Given the description of an element on the screen output the (x, y) to click on. 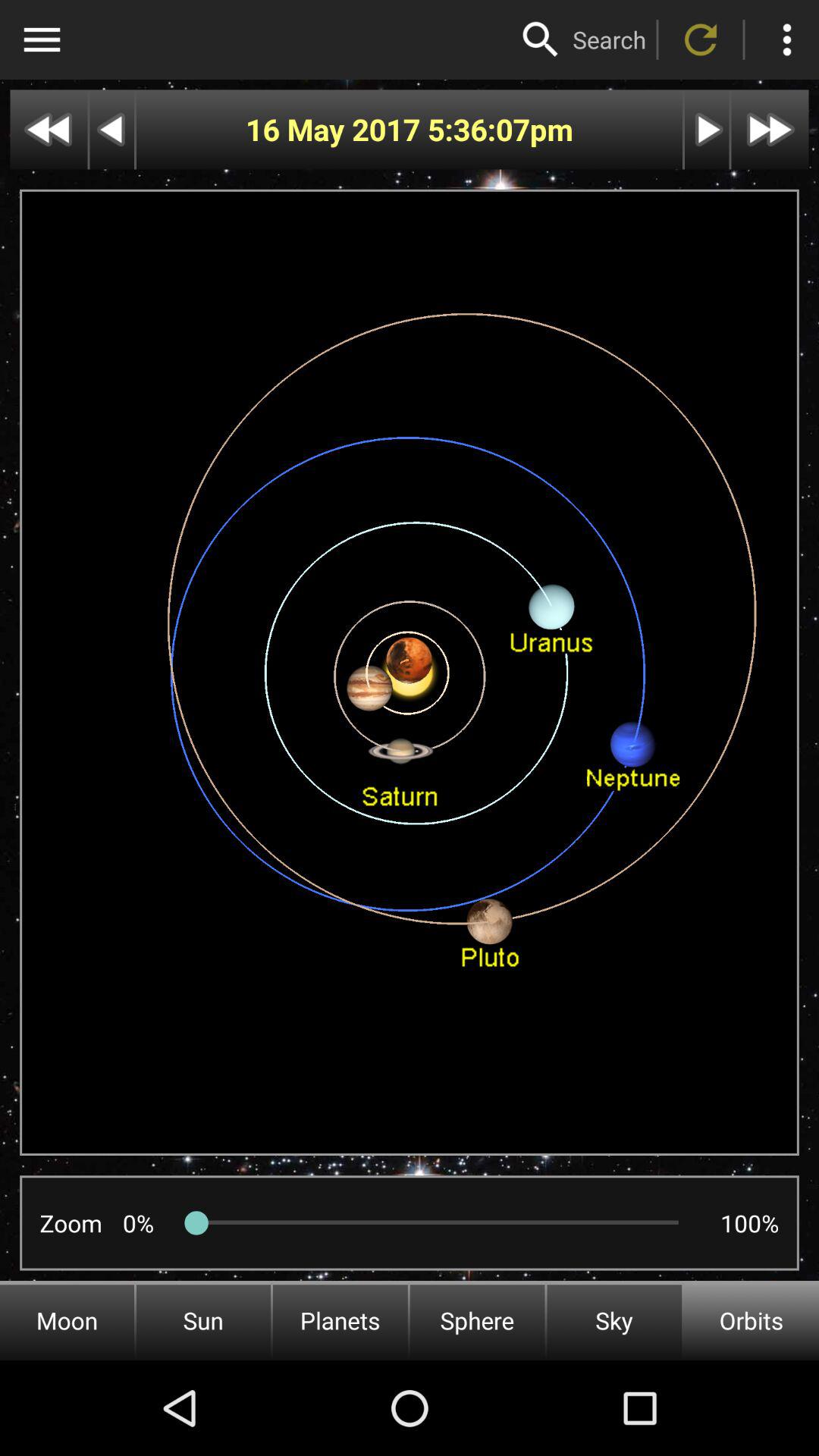
launch the app above pm (609, 39)
